Given the description of an element on the screen output the (x, y) to click on. 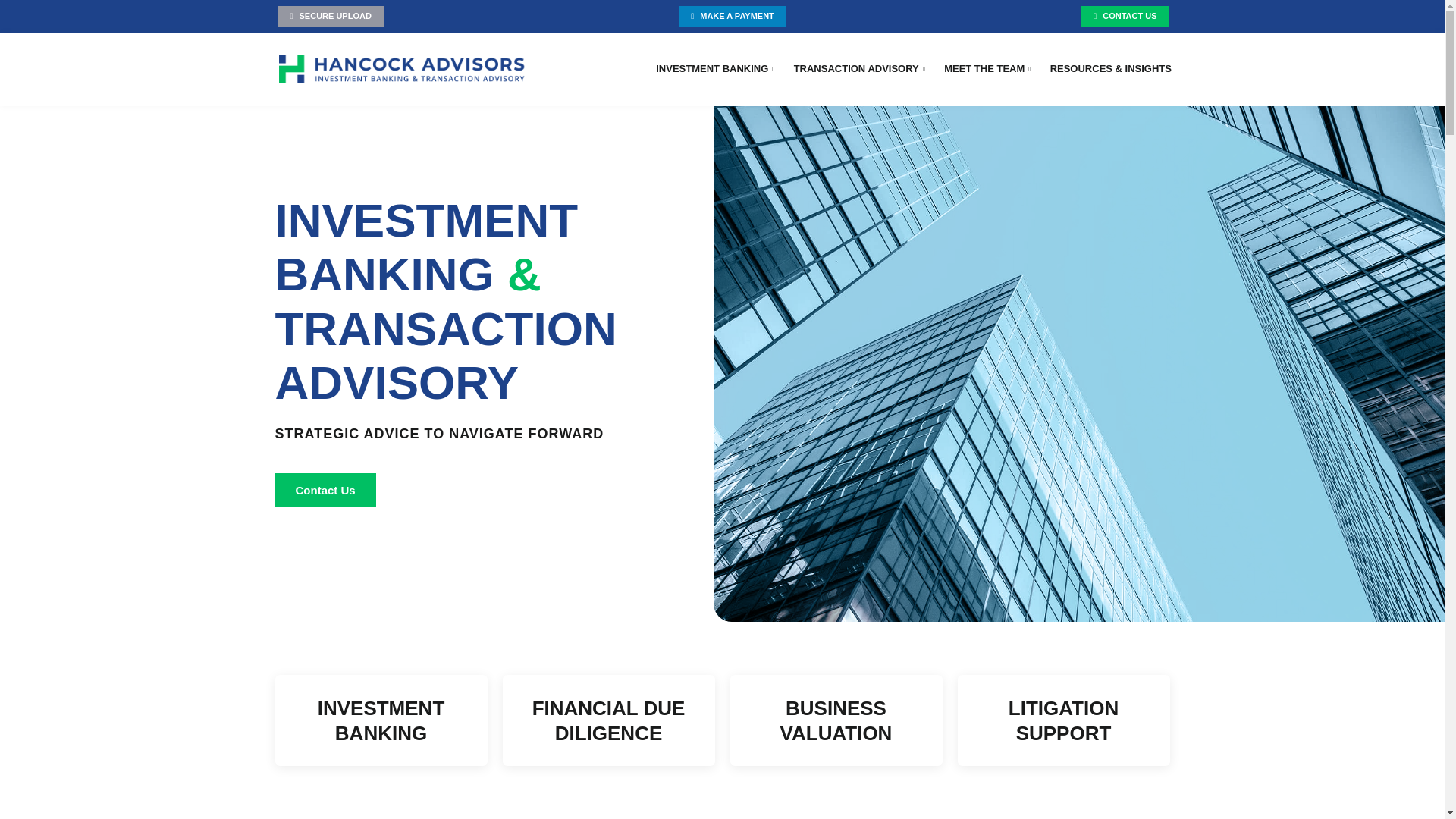
CONTACT US (1125, 15)
MAKE A PAYMENT (732, 15)
TRANSACTION ADVISORY (858, 69)
SECURE UPLOAD (330, 15)
MEET THE TEAM (986, 69)
INVESTMENT BANKING (715, 69)
